Given the description of an element on the screen output the (x, y) to click on. 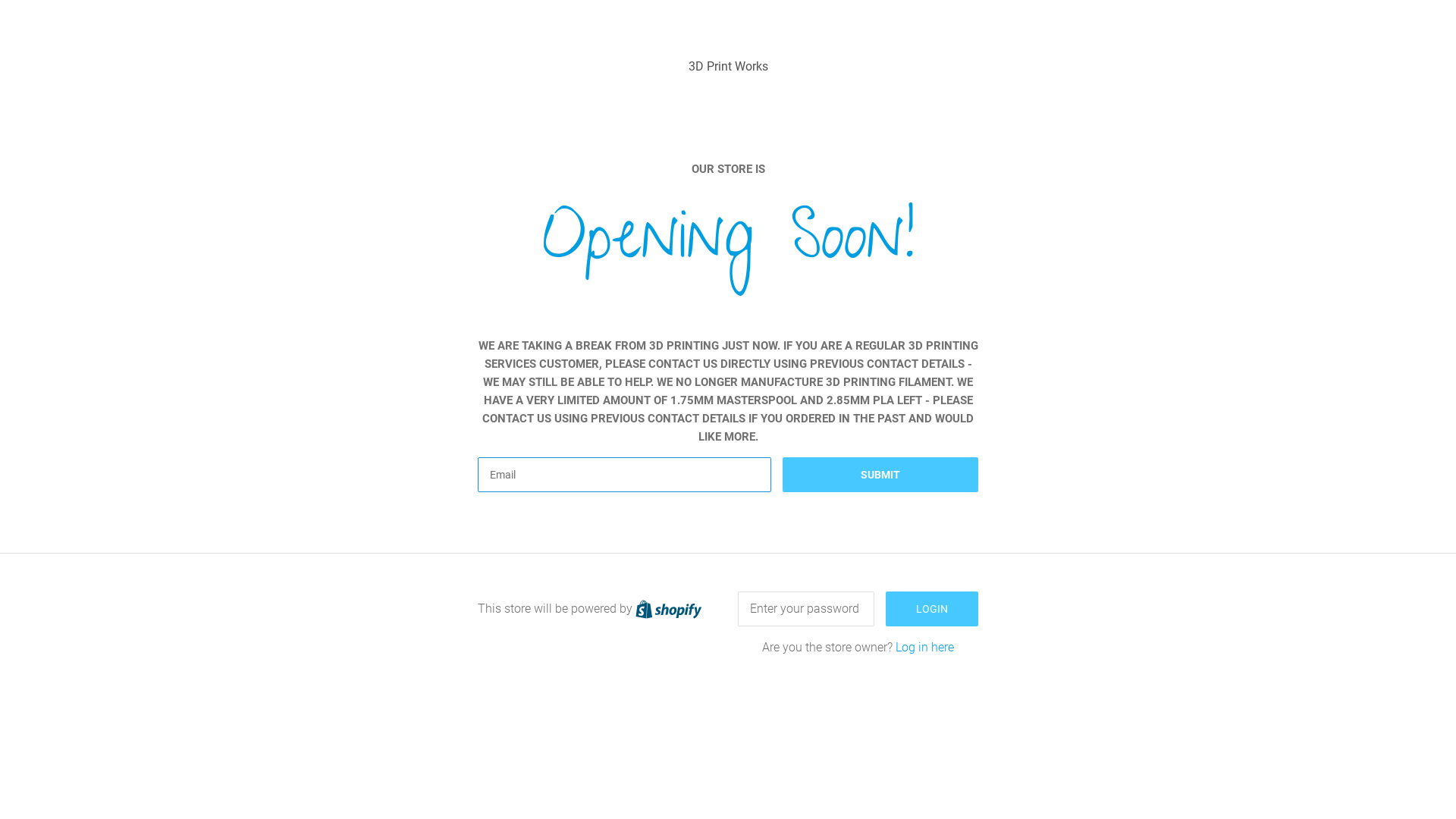
Shopify logo Element type: text (668, 608)
Log in here Element type: text (924, 647)
LOGIN Element type: text (931, 608)
3D Print Works Element type: text (728, 66)
Submit Element type: text (880, 474)
